Given the description of an element on the screen output the (x, y) to click on. 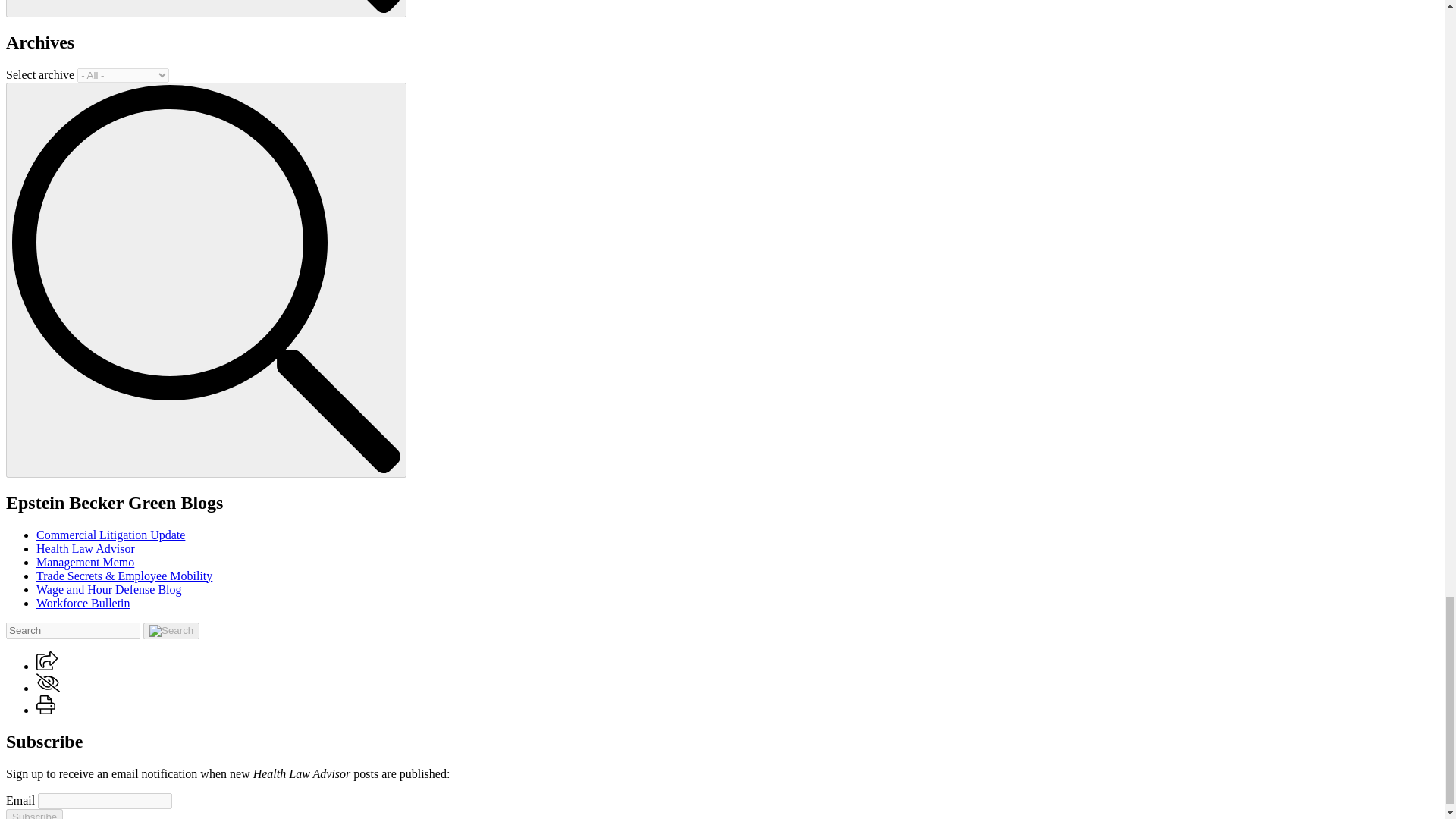
Share (47, 660)
Search (205, 6)
Go to the privacy settings (47, 682)
Share (47, 666)
Print (45, 704)
